Given the description of an element on the screen output the (x, y) to click on. 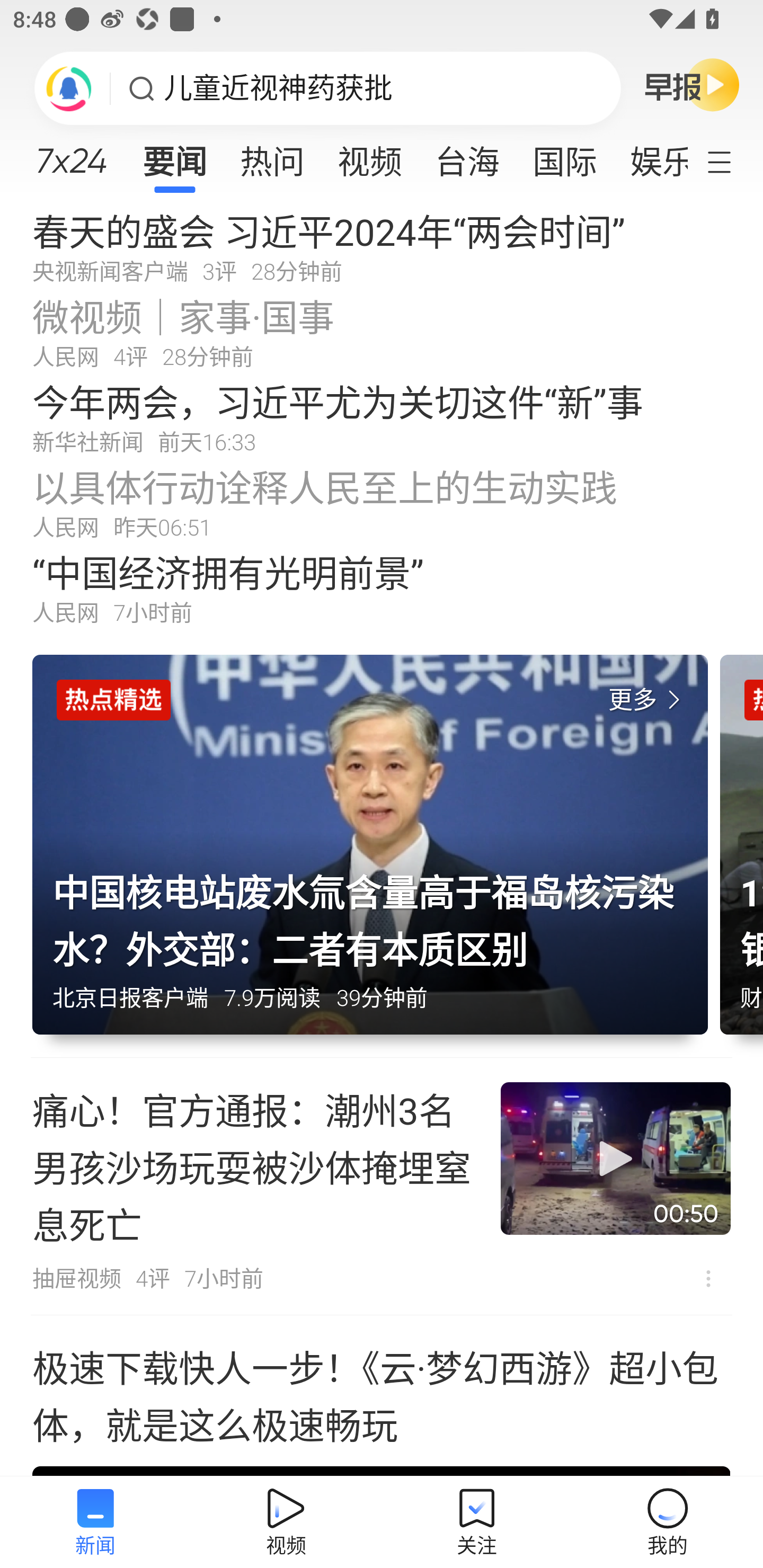
早晚报 (691, 84)
刷新 (68, 88)
儿童近视神药获批 (278, 88)
7x24 (70, 154)
要闻 (174, 155)
热问 (272, 155)
视频 (369, 155)
台海 (466, 155)
国际 (564, 155)
娱乐 (650, 155)
 定制频道 (731, 160)
春天的盛会 习近平2024年“两会时间” 央视新闻客户端 3评 28分钟前 (381, 245)
微视频｜家事·国事 人民网 4评 28分钟前 (381, 331)
今年两会，习近平尤为关切这件“新”事 新华社新闻 前天16:33 (381, 416)
以具体行动诠释人民至上的生动实践 人民网 昨天06:51 (381, 502)
“中国经济拥有光明前景” 人民网 7小时前 (381, 587)
更多  (648, 699)
 不感兴趣 (707, 1278)
极速下载快人一步！《云·梦幻西游》超小包体，就是这么极速畅玩 (381, 1396)
